Given the description of an element on the screen output the (x, y) to click on. 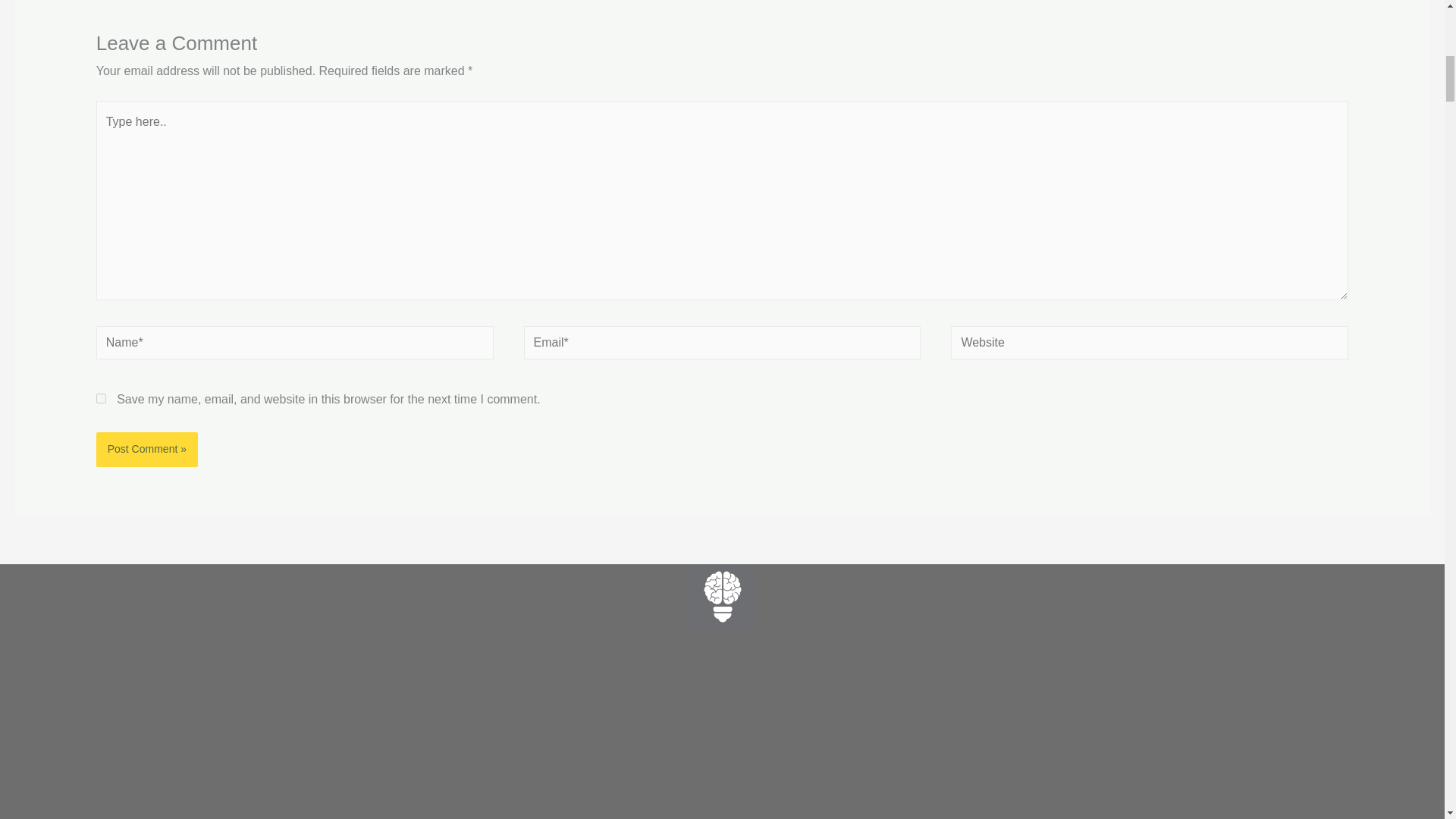
yes (101, 398)
